Given the description of an element on the screen output the (x, y) to click on. 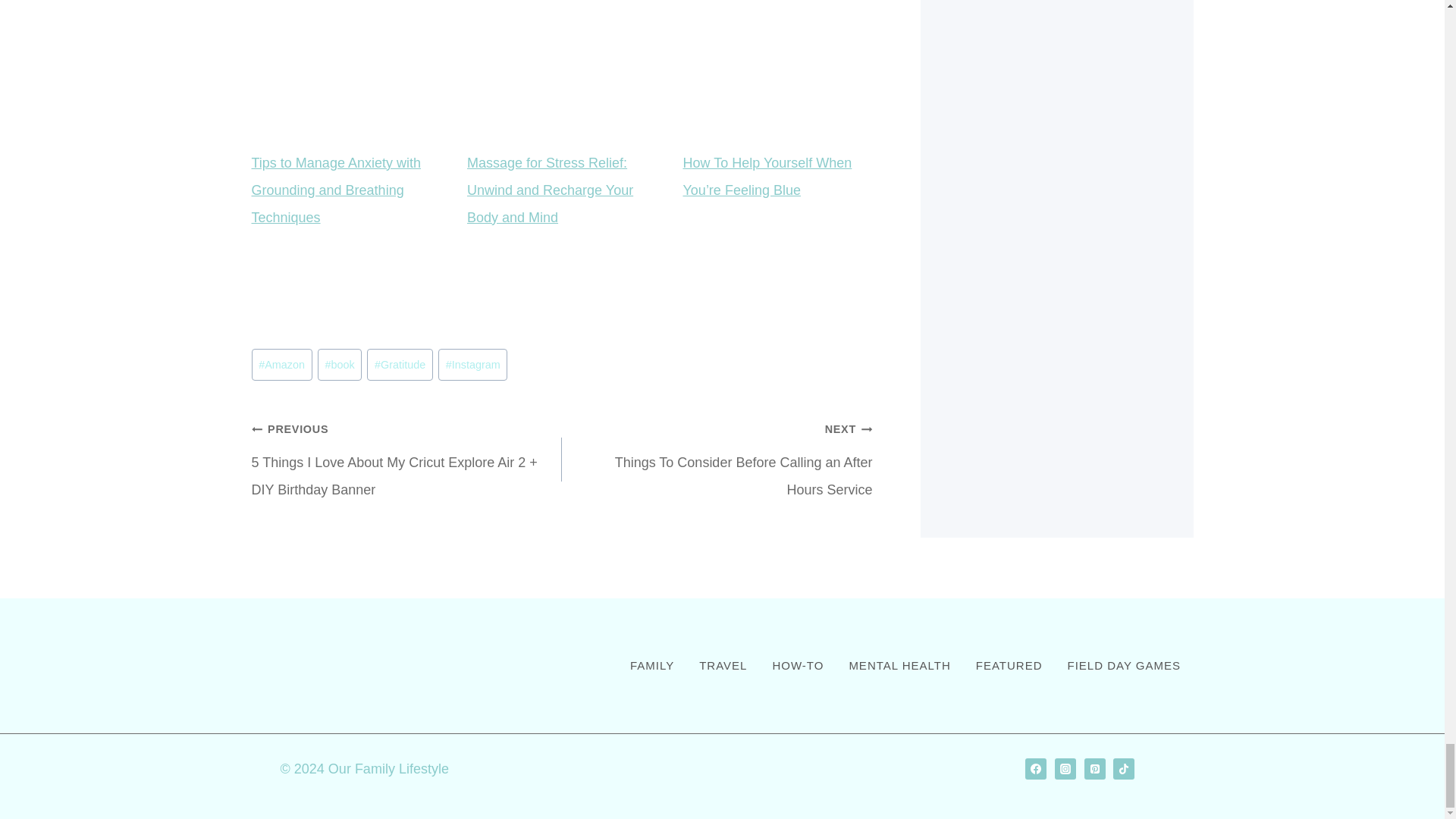
Instagram (472, 364)
Amazon (282, 364)
book (339, 364)
Gratitude (399, 364)
